Given the description of an element on the screen output the (x, y) to click on. 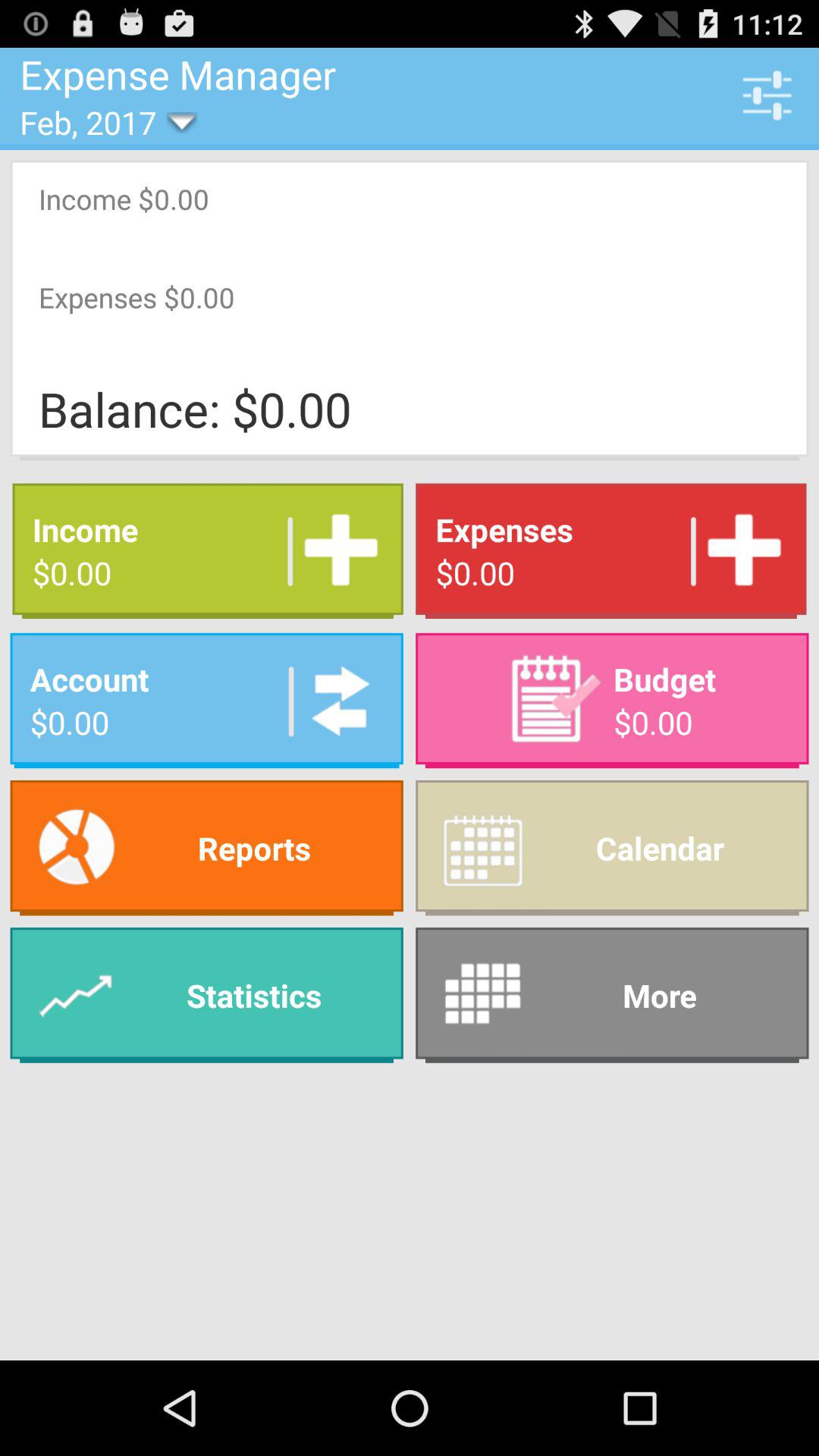
select the app to the left of the expenses (335, 550)
